Given the description of an element on the screen output the (x, y) to click on. 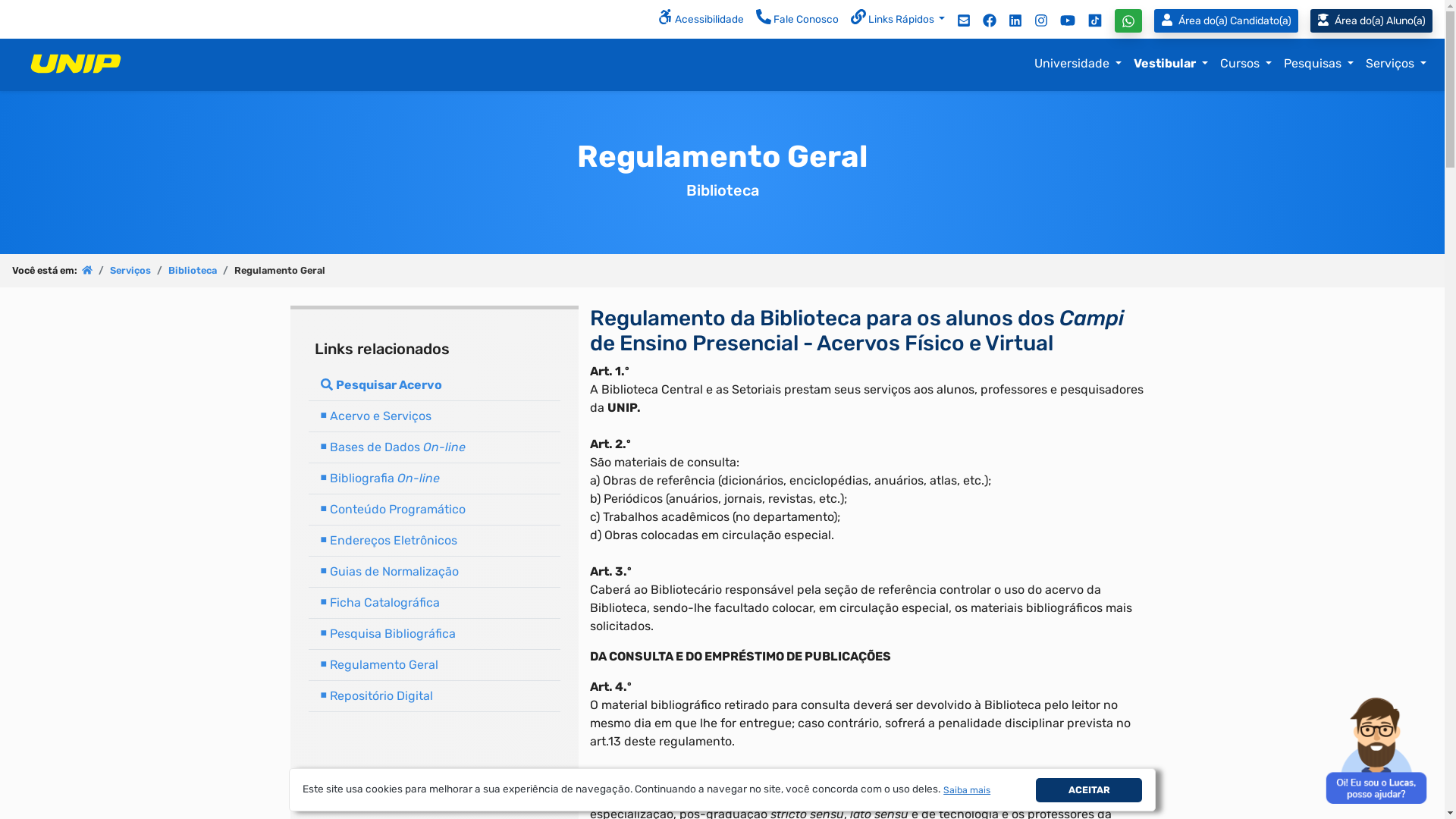
Aluno(a) Element type: text (1377, 20)
Pesquisas Element type: text (1318, 63)
Siga a UNIP no Instagram Element type: hover (1041, 19)
Inscreva-se no canal da UNIP no YouTube Element type: hover (1067, 20)
Candidato(a) Element type: text (1226, 20)
Fale conosco no WhatsApp Element type: hover (1128, 20)
Candidato(a) Element type: text (1229, 20)
Biblioteca Element type: text (192, 270)
Siga a UNIP no TikTok da UNIP Element type: hover (1094, 20)
Vestibular Element type: text (1170, 63)
Siga a UNIP no Linkedin Element type: hover (1015, 19)
Saiba mais Element type: text (966, 789)
ACEITAR Element type: text (1088, 790)
Acessibilidade Element type: text (700, 19)
Siga a UNIP no Facebook Element type: hover (989, 19)
Fale Conosco Element type: text (796, 19)
Acesso ao Webmail Element type: hover (963, 19)
Universidade Element type: text (1077, 63)
Cursos Element type: text (1245, 63)
Aluno(a) Element type: text (1371, 20)
